Given the description of an element on the screen output the (x, y) to click on. 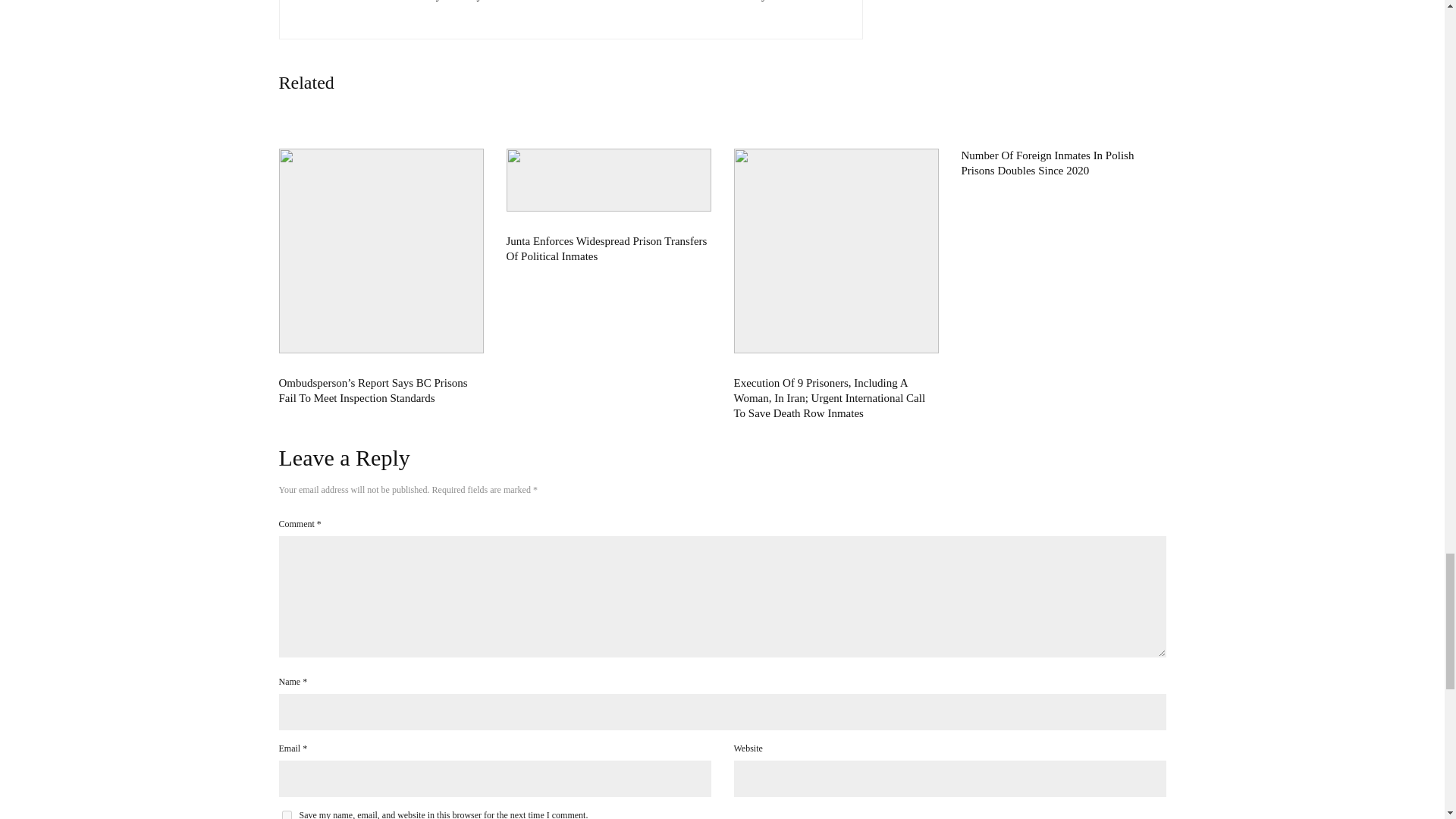
yes (287, 814)
